Given the description of an element on the screen output the (x, y) to click on. 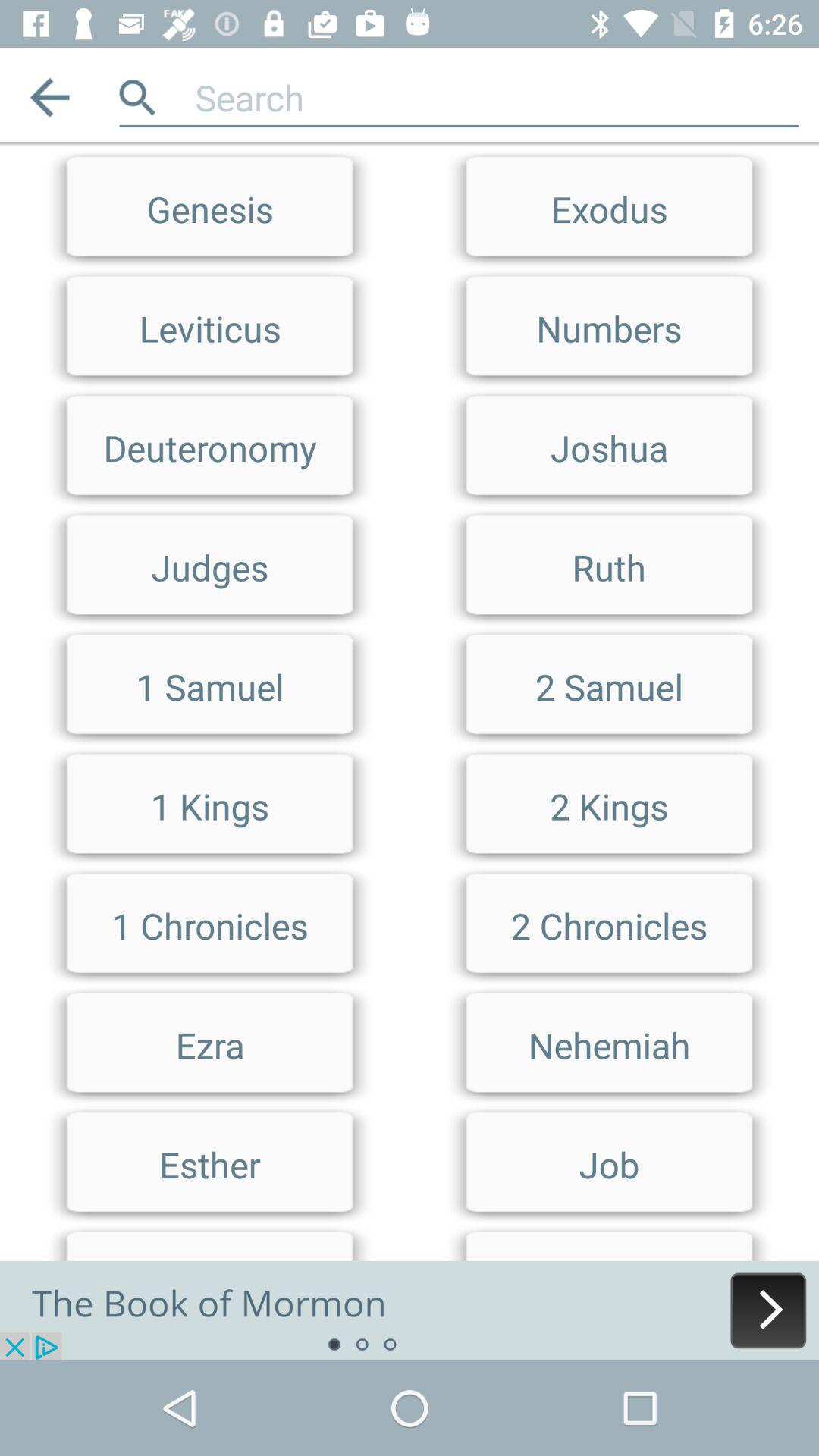
enter search terms (409, 148)
